Given the description of an element on the screen output the (x, y) to click on. 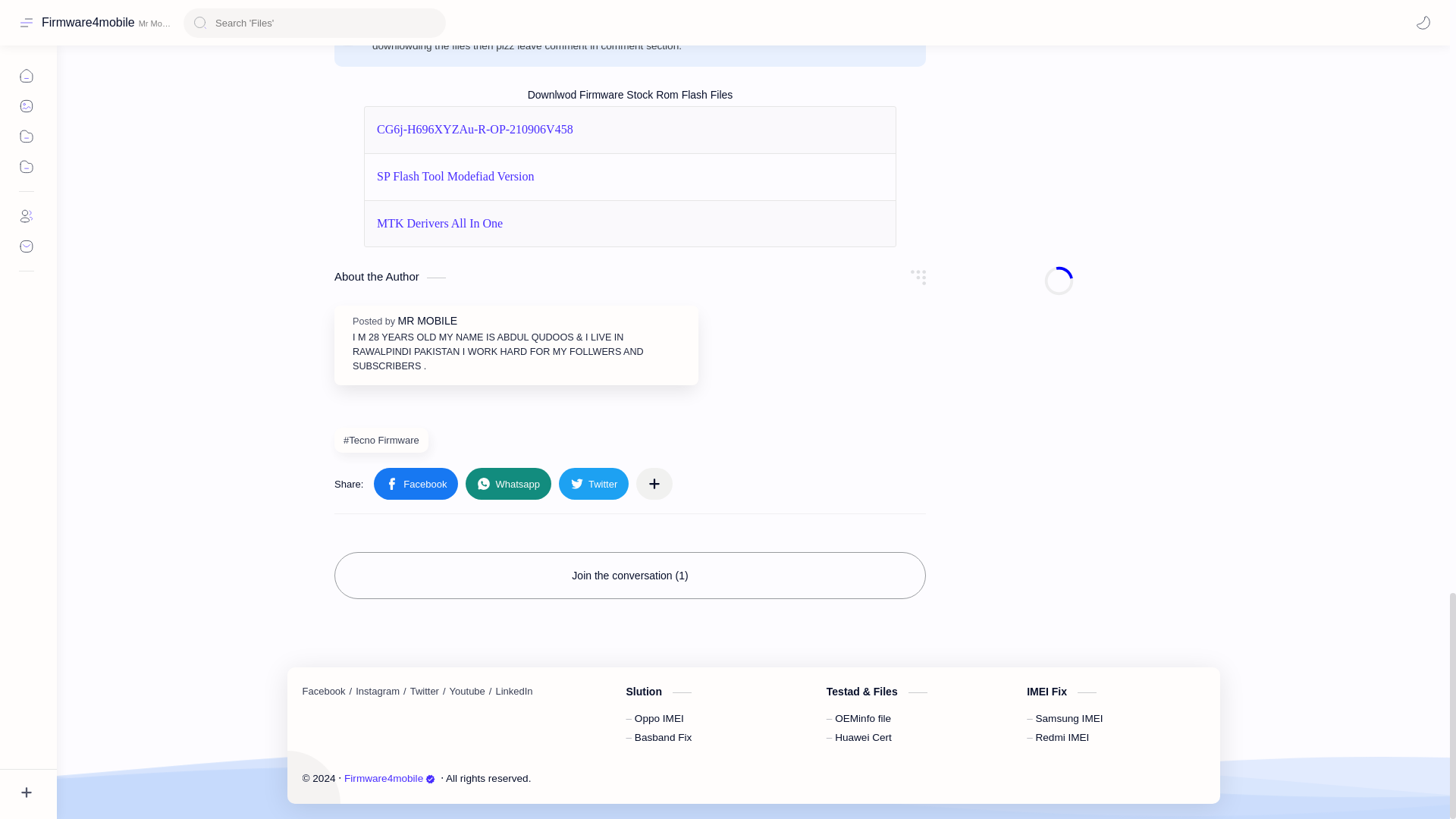
MTK Derivers All In One (439, 223)
CG6j-H696XYZAu-R-OP-210906V458 (475, 128)
SP Flash Tool Modefiad Version (455, 176)
